Given the description of an element on the screen output the (x, y) to click on. 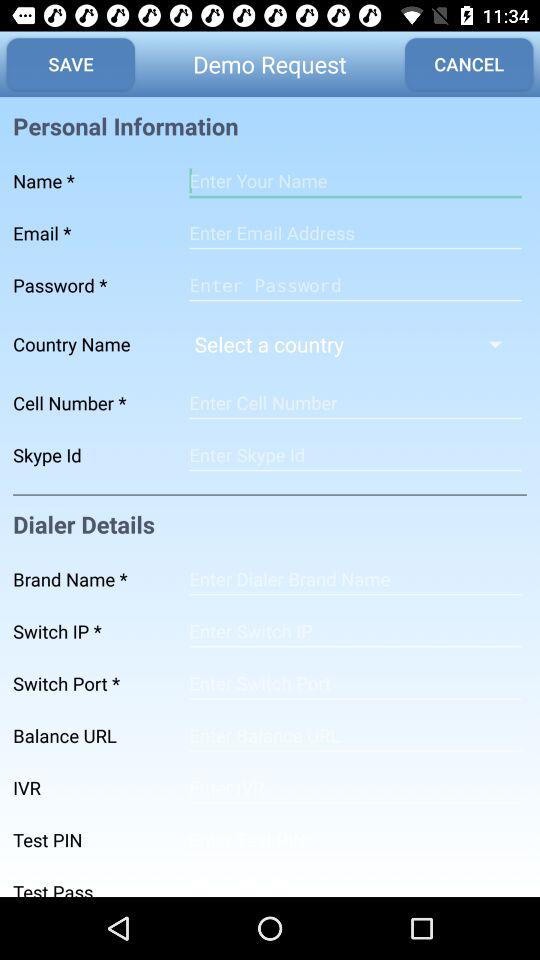
password the option box (355, 285)
